Given the description of an element on the screen output the (x, y) to click on. 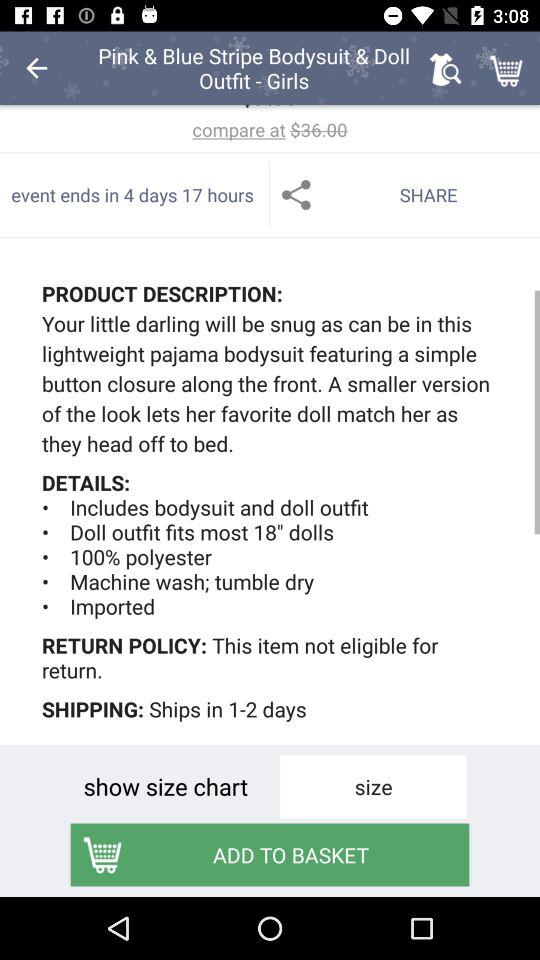
turn off the icon below the show size chart icon (269, 854)
